Given the description of an element on the screen output the (x, y) to click on. 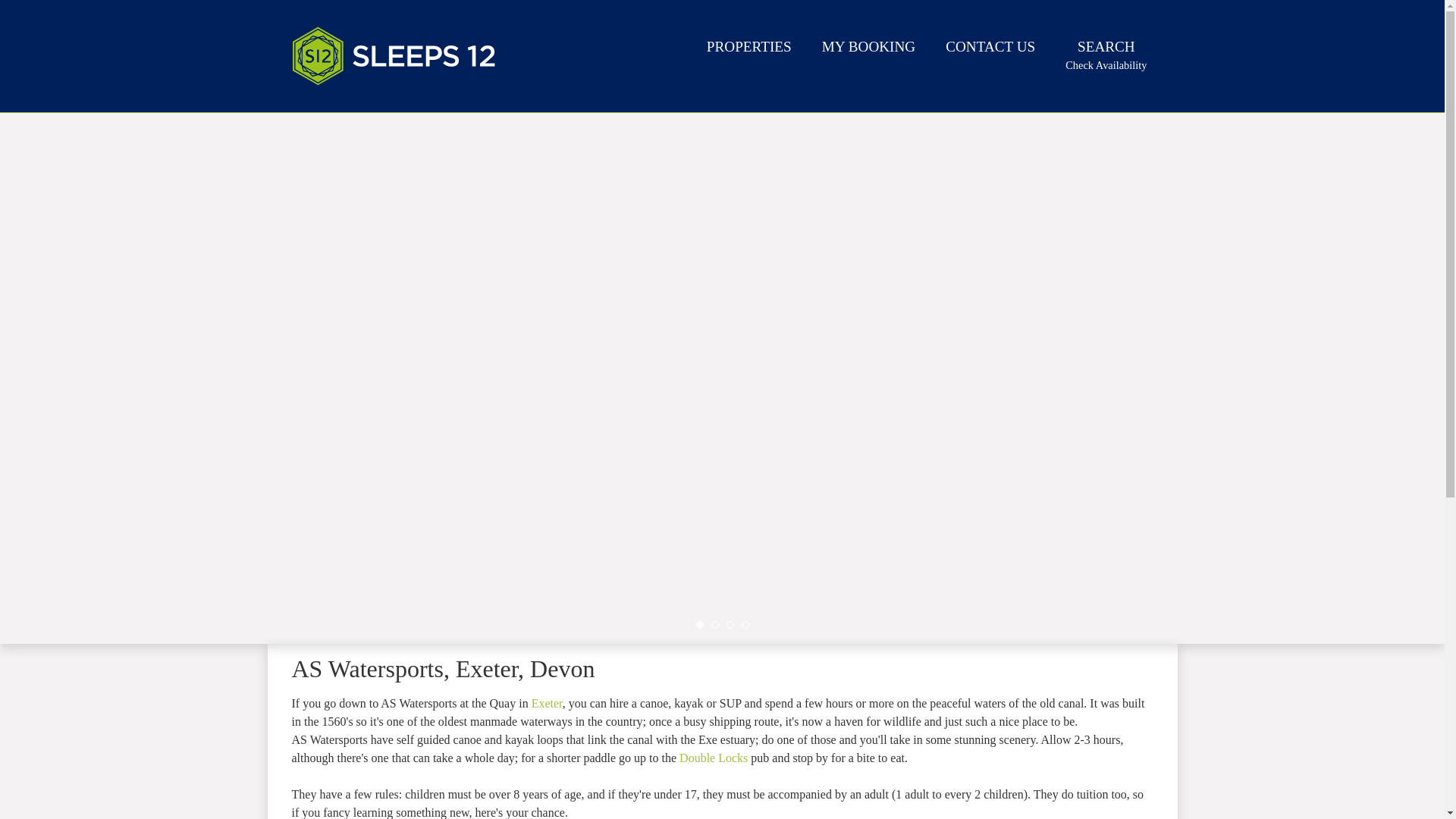
PROPERTIES (748, 48)
MY BOOKING (868, 48)
CONTACT US (990, 48)
Exeter (546, 703)
Back to Homepage (1106, 55)
Double Locks (393, 56)
